Given the description of an element on the screen output the (x, y) to click on. 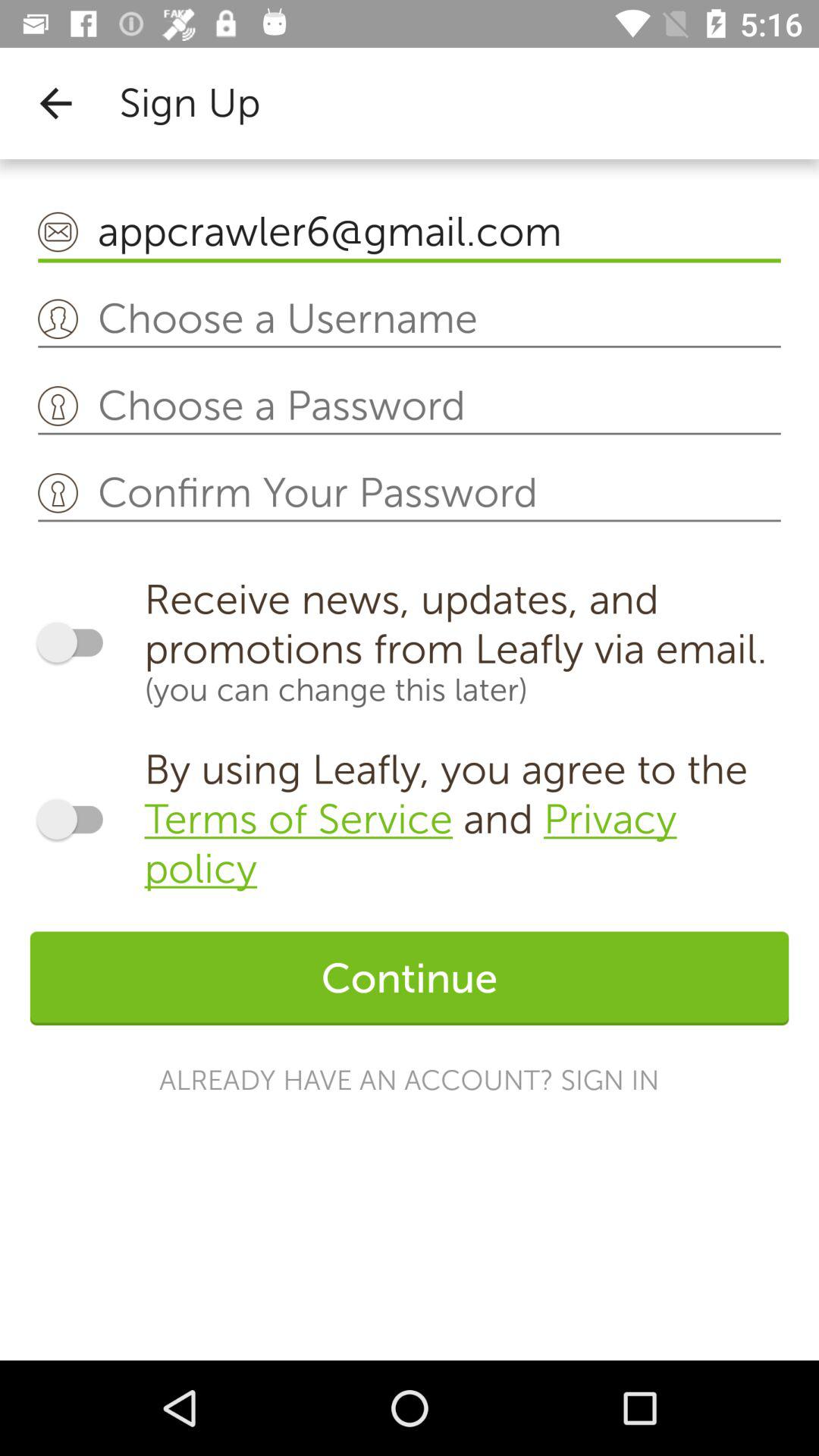
confirm the password (409, 493)
